Given the description of an element on the screen output the (x, y) to click on. 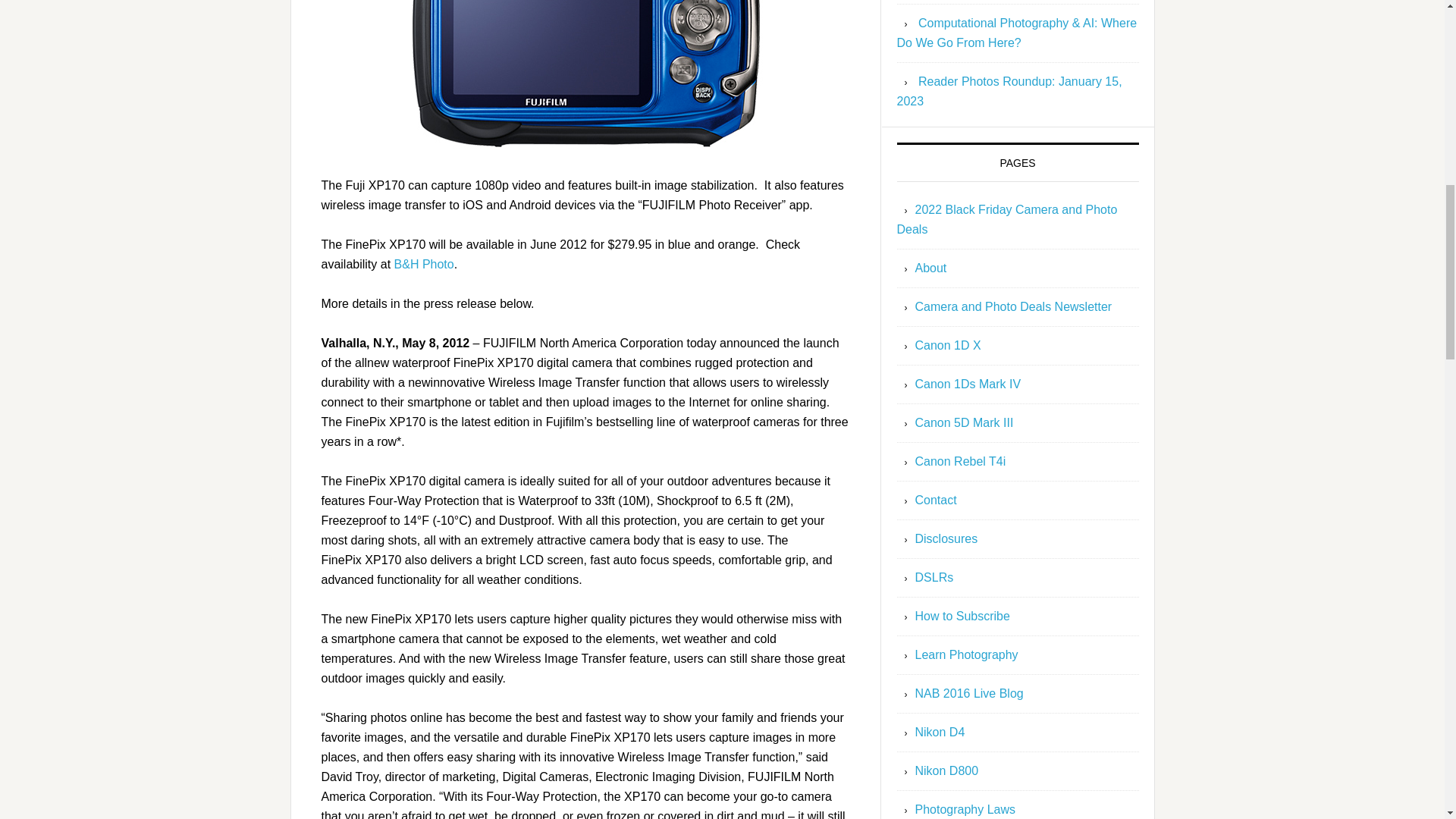
2022 Black Friday Camera and Photo Deals (1006, 219)
Reader Photos Roundup: January 15, 2023 (1008, 91)
Canon 1D X (946, 345)
Camera and Photo Deals Newsletter (1013, 306)
Fuji XP170 Back (585, 78)
About (930, 267)
